Given the description of an element on the screen output the (x, y) to click on. 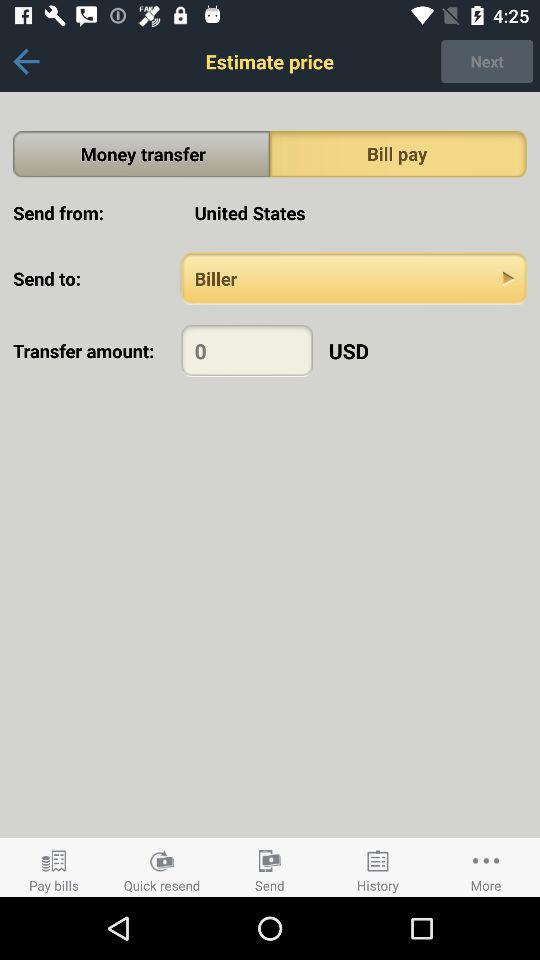
choose recipient option (353, 278)
